Given the description of an element on the screen output the (x, y) to click on. 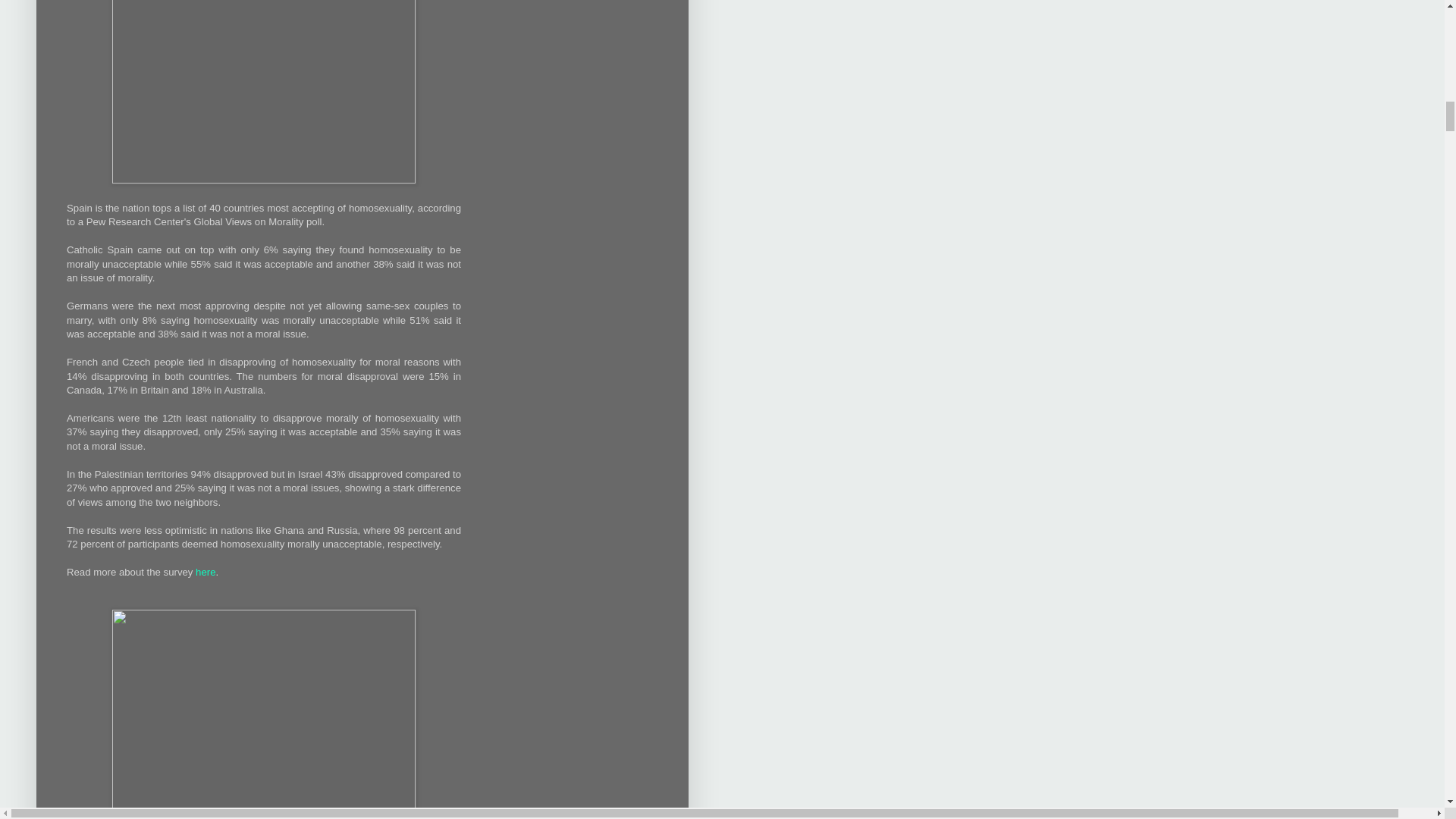
here (205, 572)
